Given the description of an element on the screen output the (x, y) to click on. 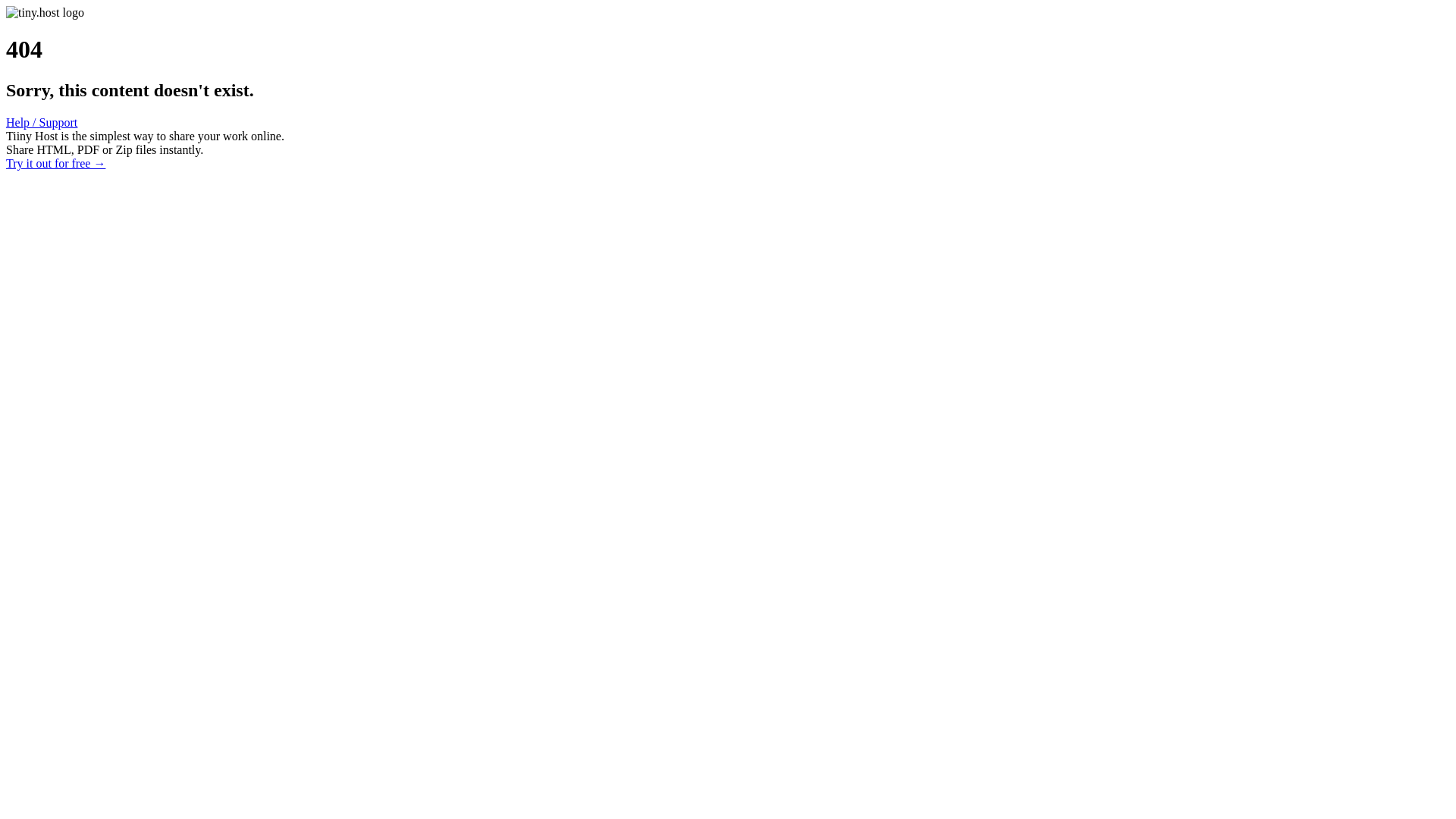
Help / Support Element type: text (41, 122)
